Given the description of an element on the screen output the (x, y) to click on. 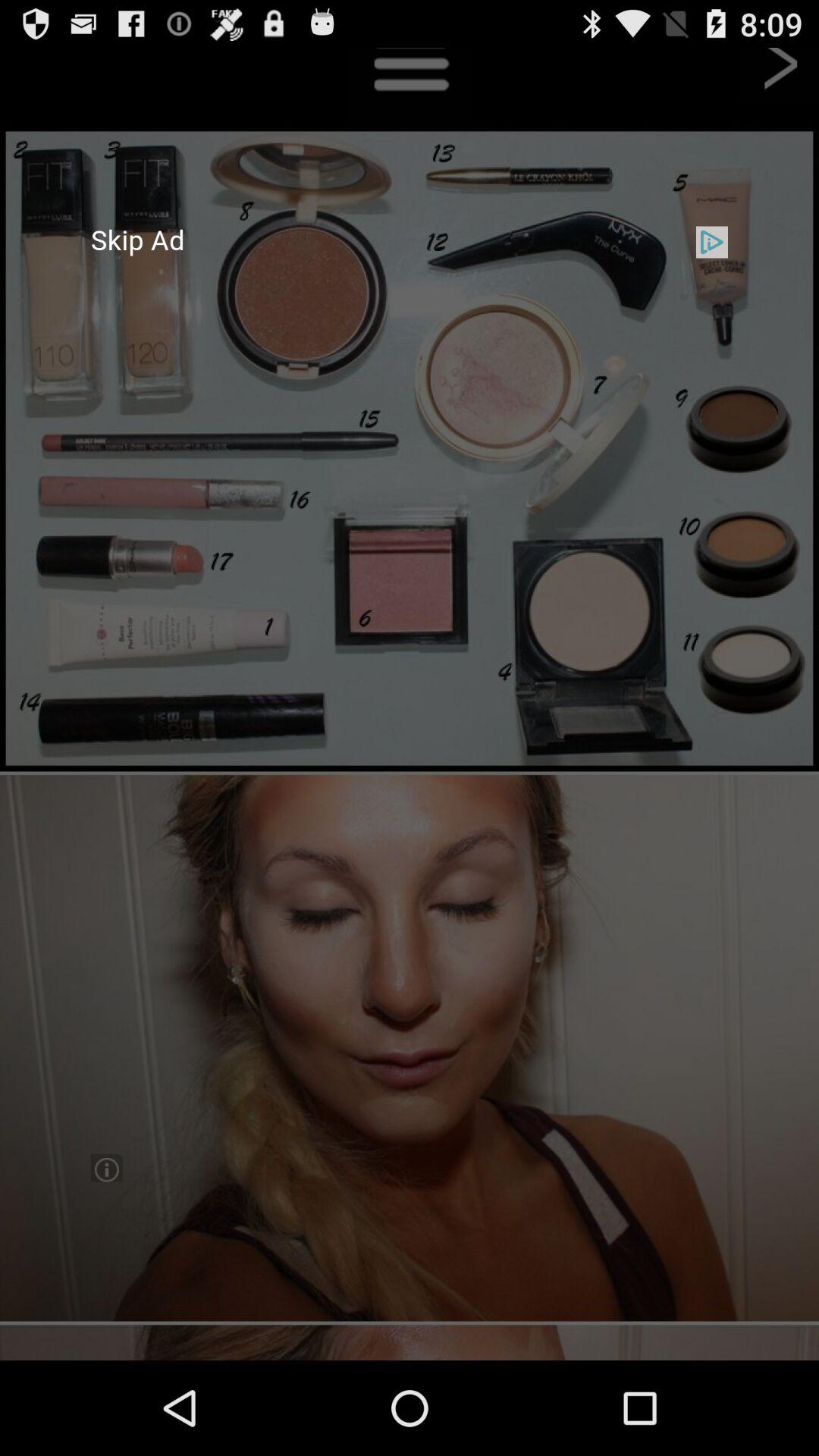
skip advertisement (409, 703)
